Given the description of an element on the screen output the (x, y) to click on. 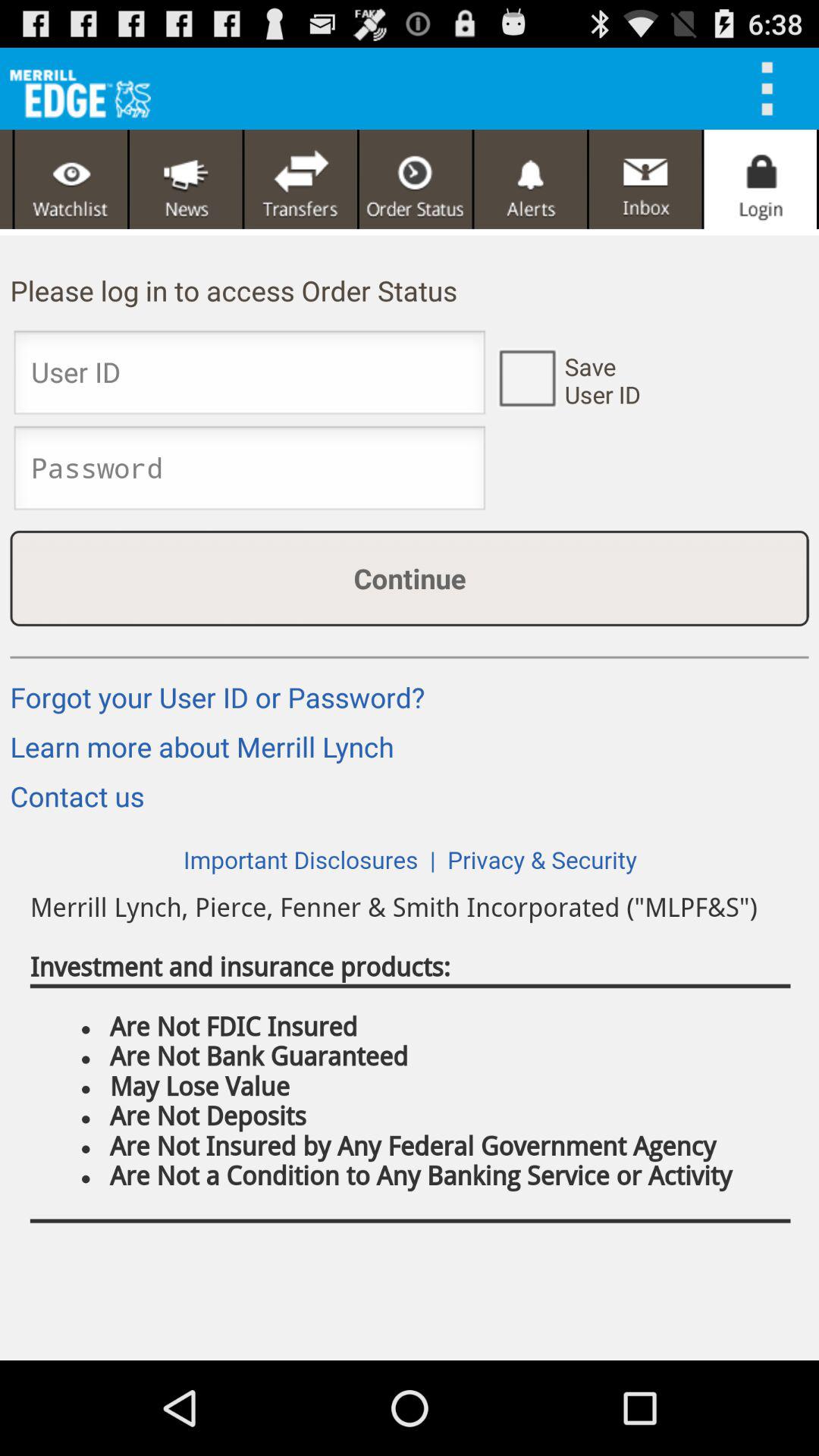
open inbox (645, 179)
